Given the description of an element on the screen output the (x, y) to click on. 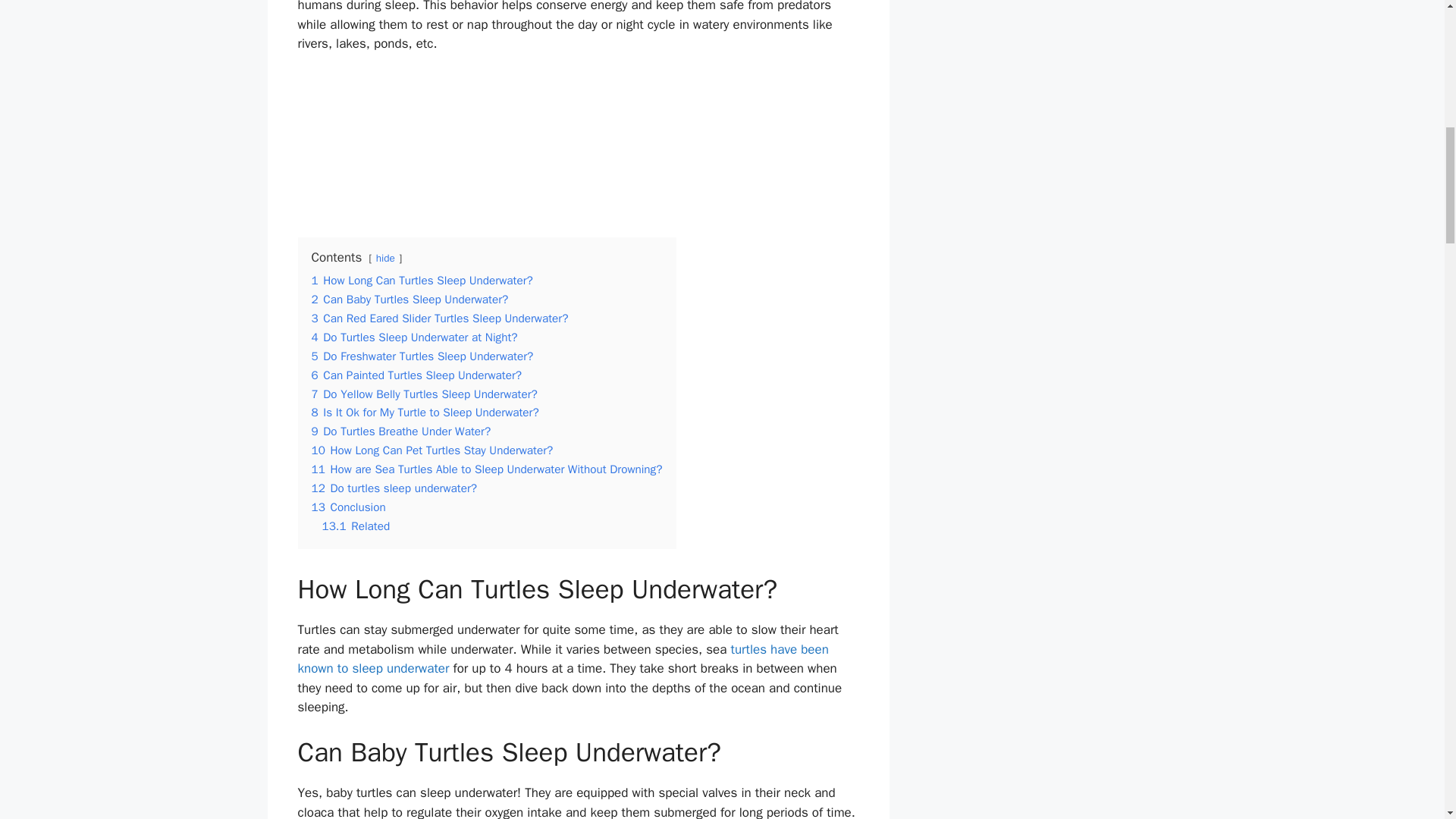
13.1 Related (355, 525)
Advertisement (578, 142)
Scroll back to top (1406, 720)
13 Conclusion (348, 507)
9 Do Turtles Breathe Under Water? (400, 431)
1 How Long Can Turtles Sleep Underwater? (421, 280)
4 Do Turtles Sleep Underwater at Night? (413, 337)
turtles have been known to sleep underwater (562, 659)
2 Can Baby Turtles Sleep Underwater? (409, 299)
6 Can Painted Turtles Sleep Underwater? (416, 375)
12 Do turtles sleep underwater? (394, 488)
5 Do Freshwater Turtles Sleep Underwater? (421, 355)
hide (384, 257)
8 Is It Ok for My Turtle to Sleep Underwater? (424, 412)
3 Can Red Eared Slider Turtles Sleep Underwater? (439, 318)
